Given the description of an element on the screen output the (x, y) to click on. 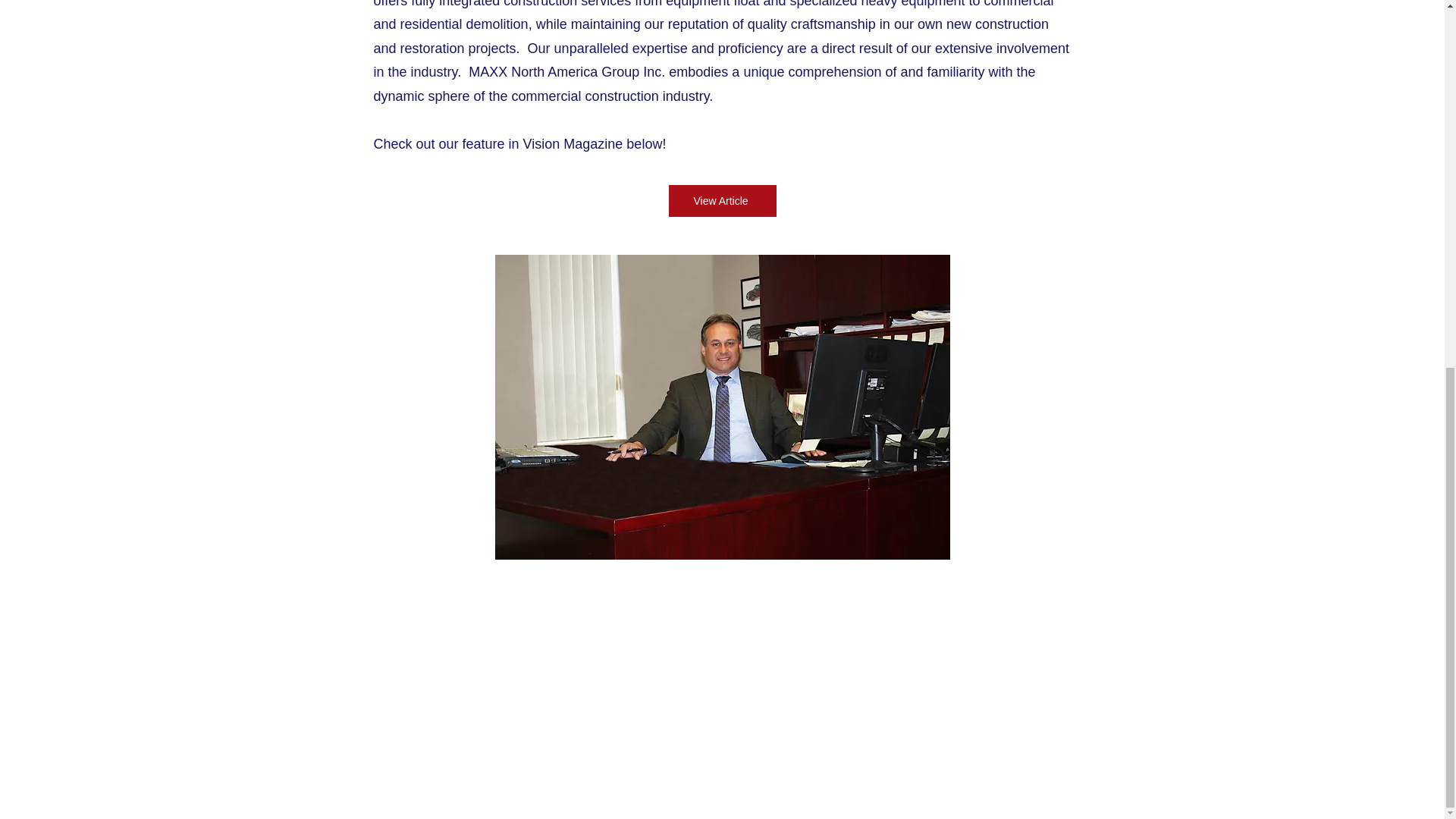
View Article (722, 201)
